Given the description of an element on the screen output the (x, y) to click on. 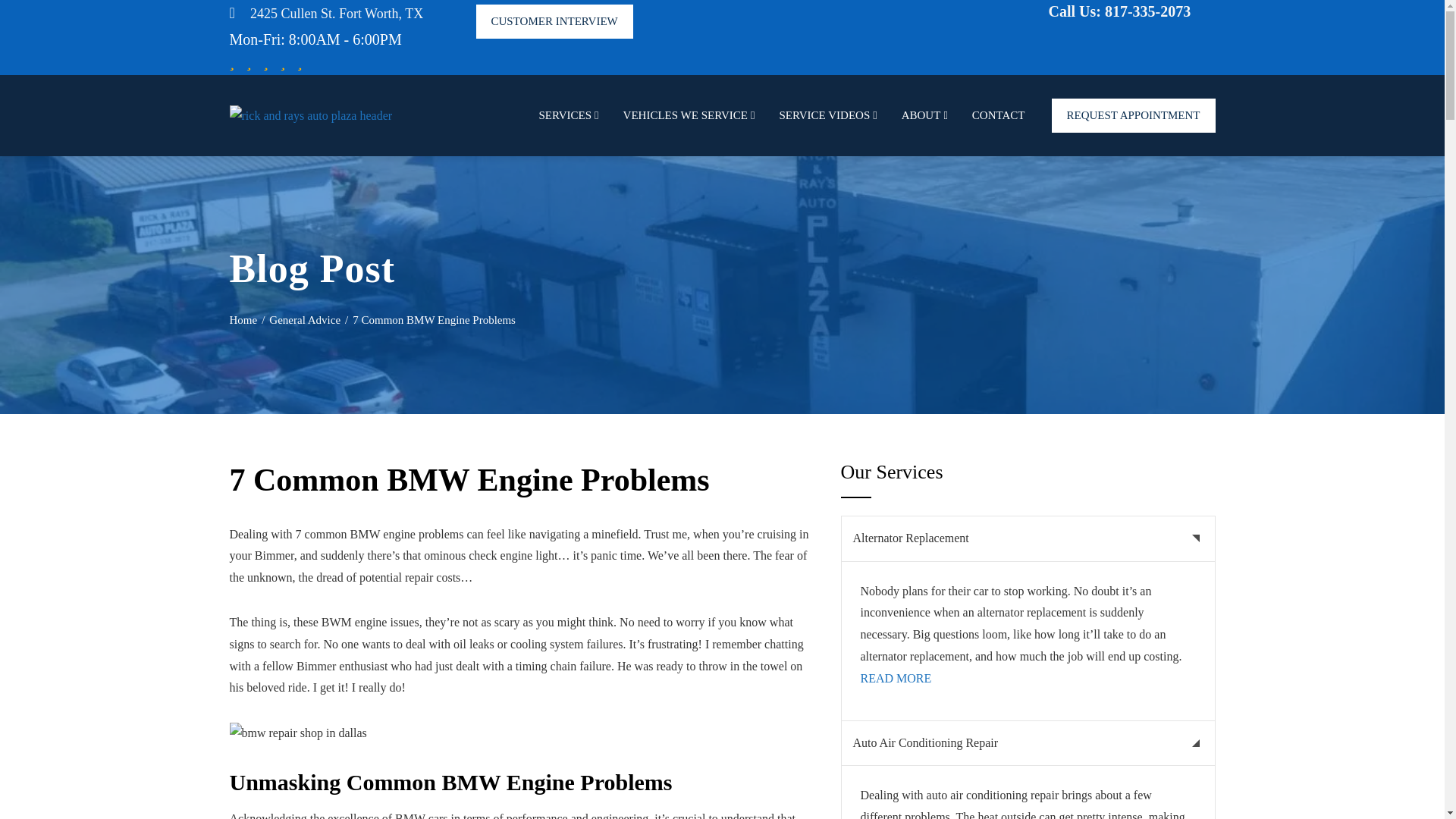
2425 Cullen St. Fort Worth, TX (336, 13)
Call Us: 817-335-2073 (1131, 14)
SERVICES (567, 115)
CUSTOMER INTERVIEW (554, 21)
